Given the description of an element on the screen output the (x, y) to click on. 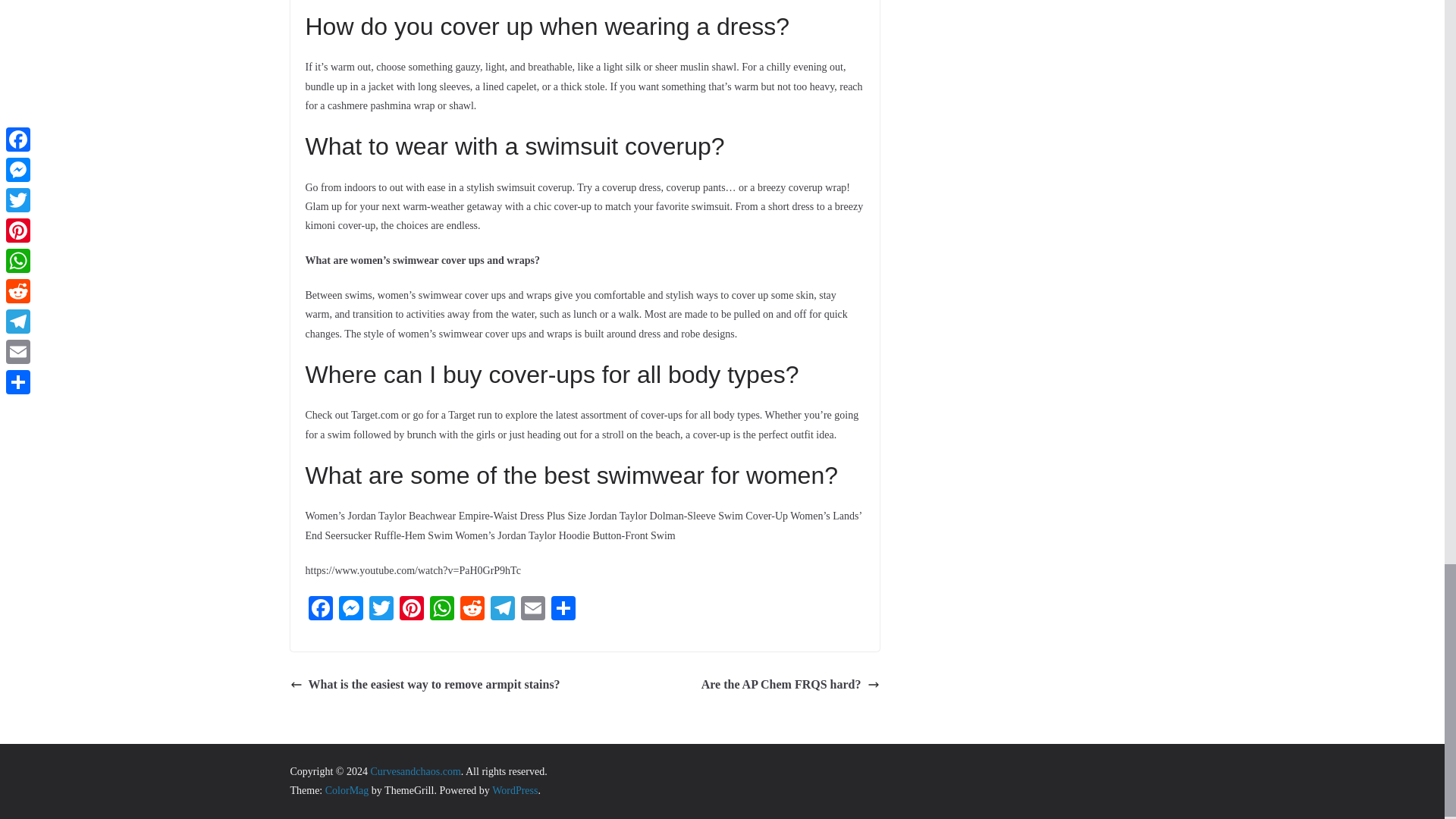
Twitter (380, 610)
Pinterest (411, 610)
Messenger (349, 610)
WhatsApp (441, 610)
What is the easiest way to remove armpit stains? (424, 685)
Telegram (501, 610)
Facebook (319, 610)
Telegram (501, 610)
Reddit (471, 610)
Pinterest (411, 610)
Curvesandchaos.com (414, 771)
ColorMag (346, 790)
WordPress (514, 790)
Messenger (349, 610)
Email (531, 610)
